Given the description of an element on the screen output the (x, y) to click on. 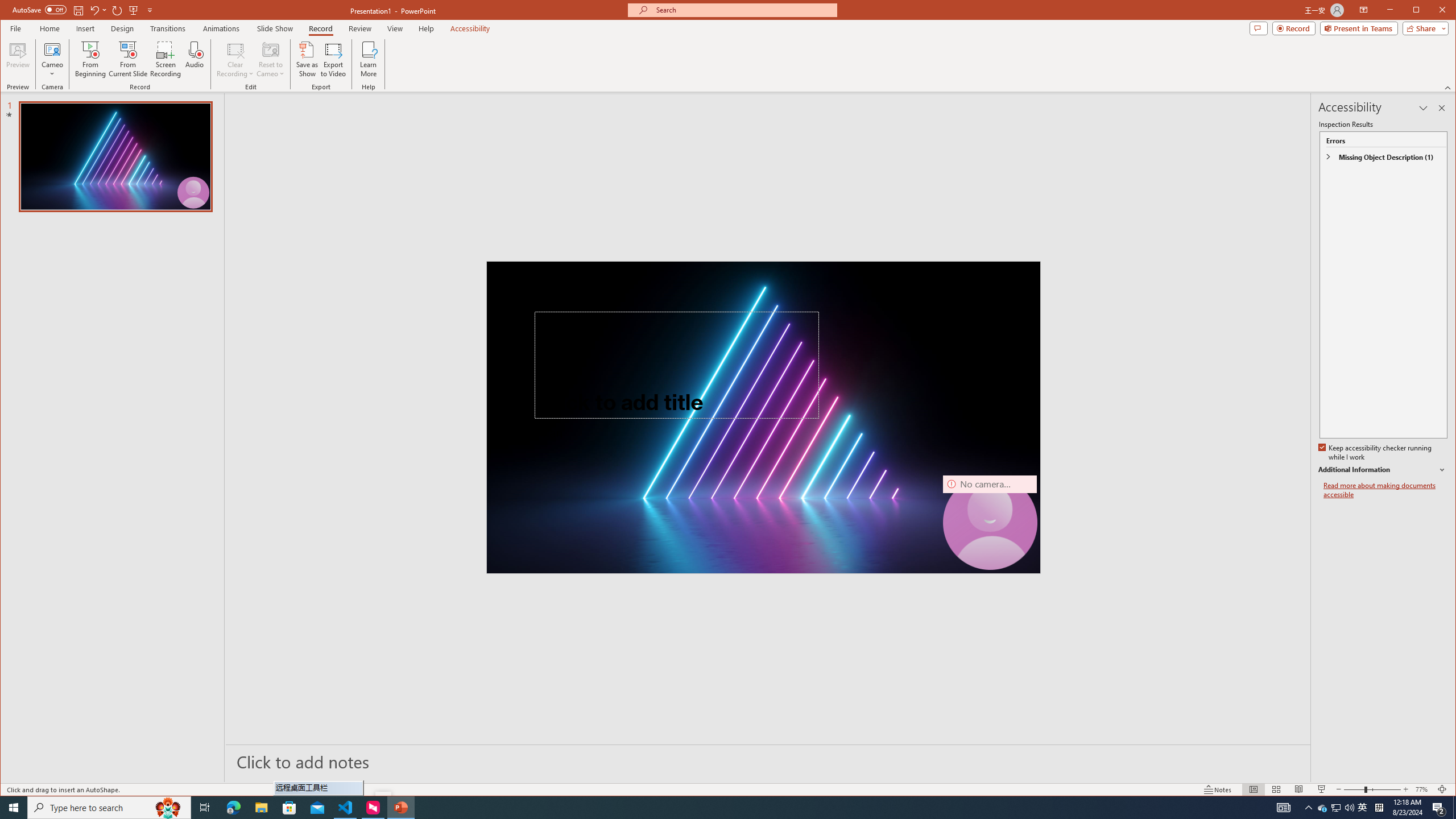
Zoom 77% (1422, 789)
